Given the description of an element on the screen output the (x, y) to click on. 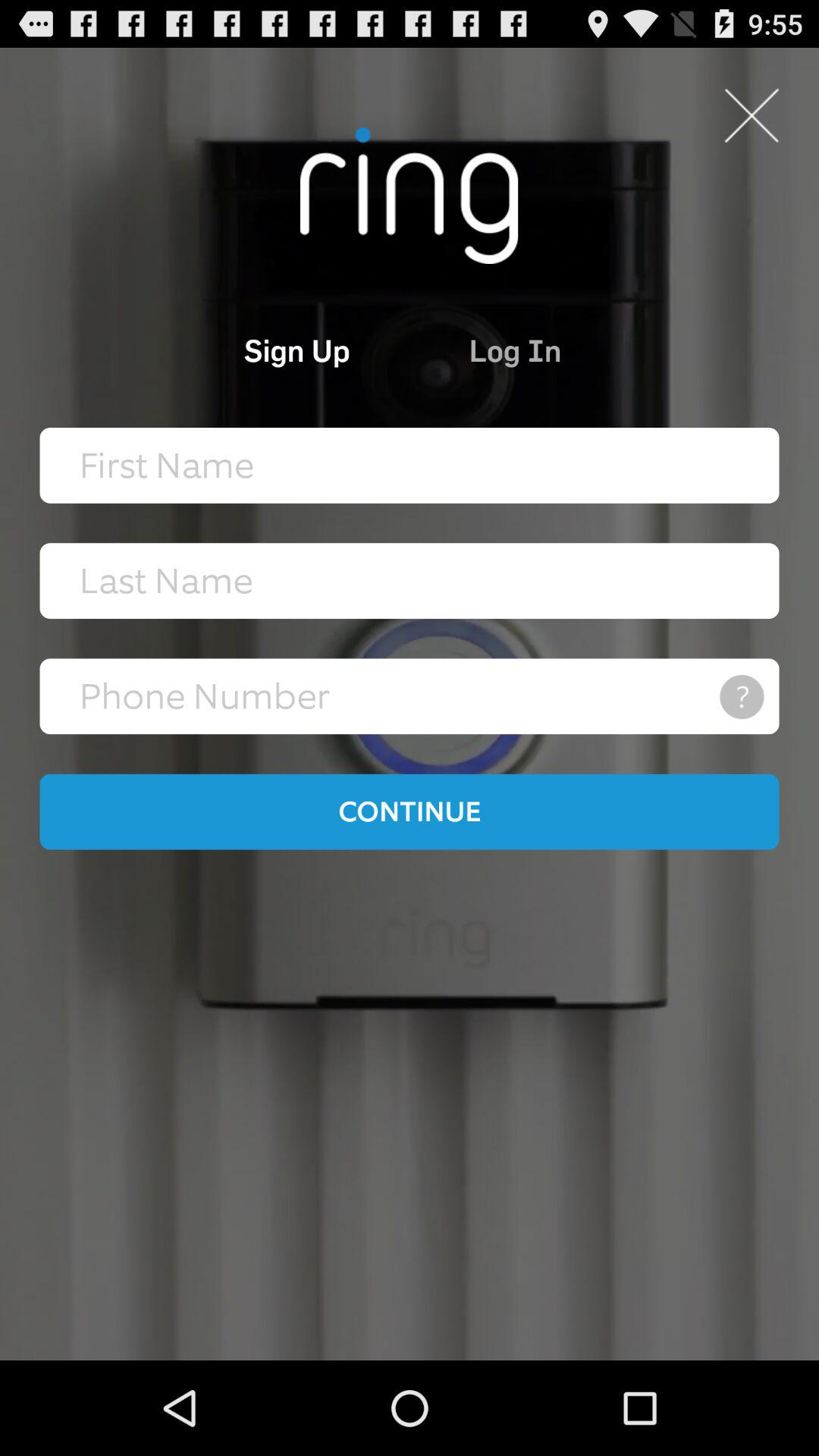
open the item to the right of the sign up icon (584, 349)
